Given the description of an element on the screen output the (x, y) to click on. 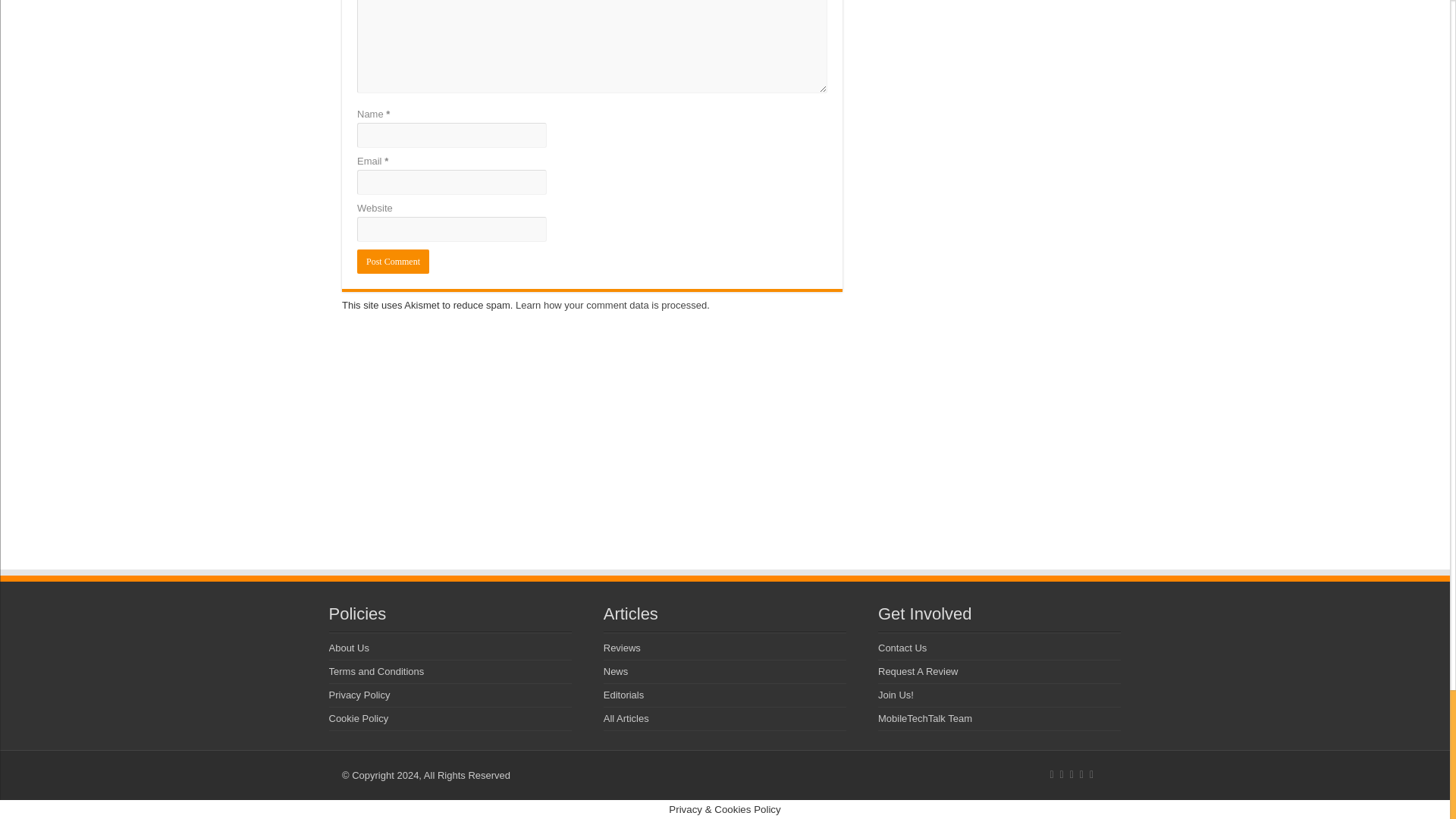
Post Comment (392, 261)
